Given the description of an element on the screen output the (x, y) to click on. 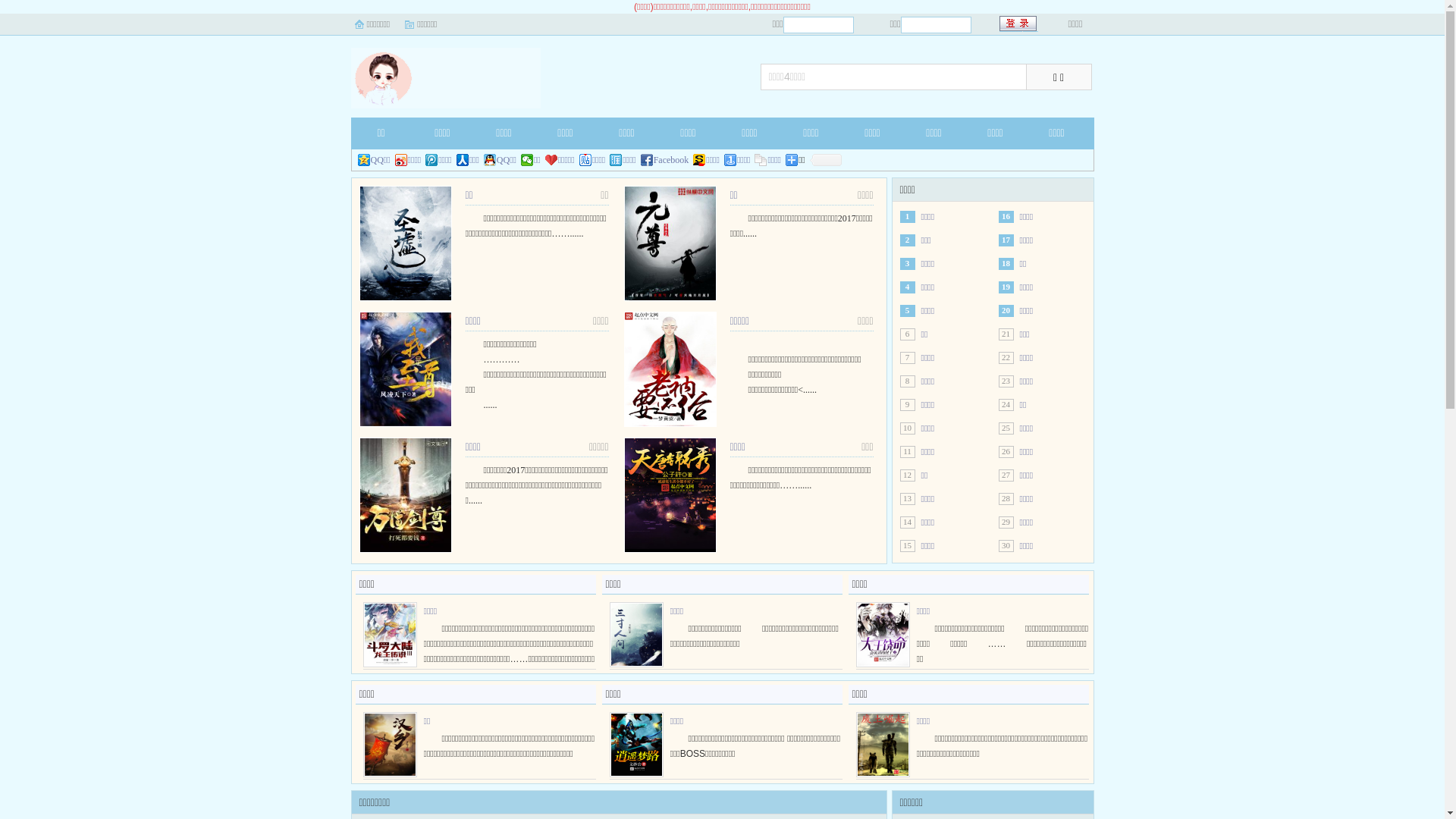
Facebook Element type: text (664, 159)
